Given the description of an element on the screen output the (x, y) to click on. 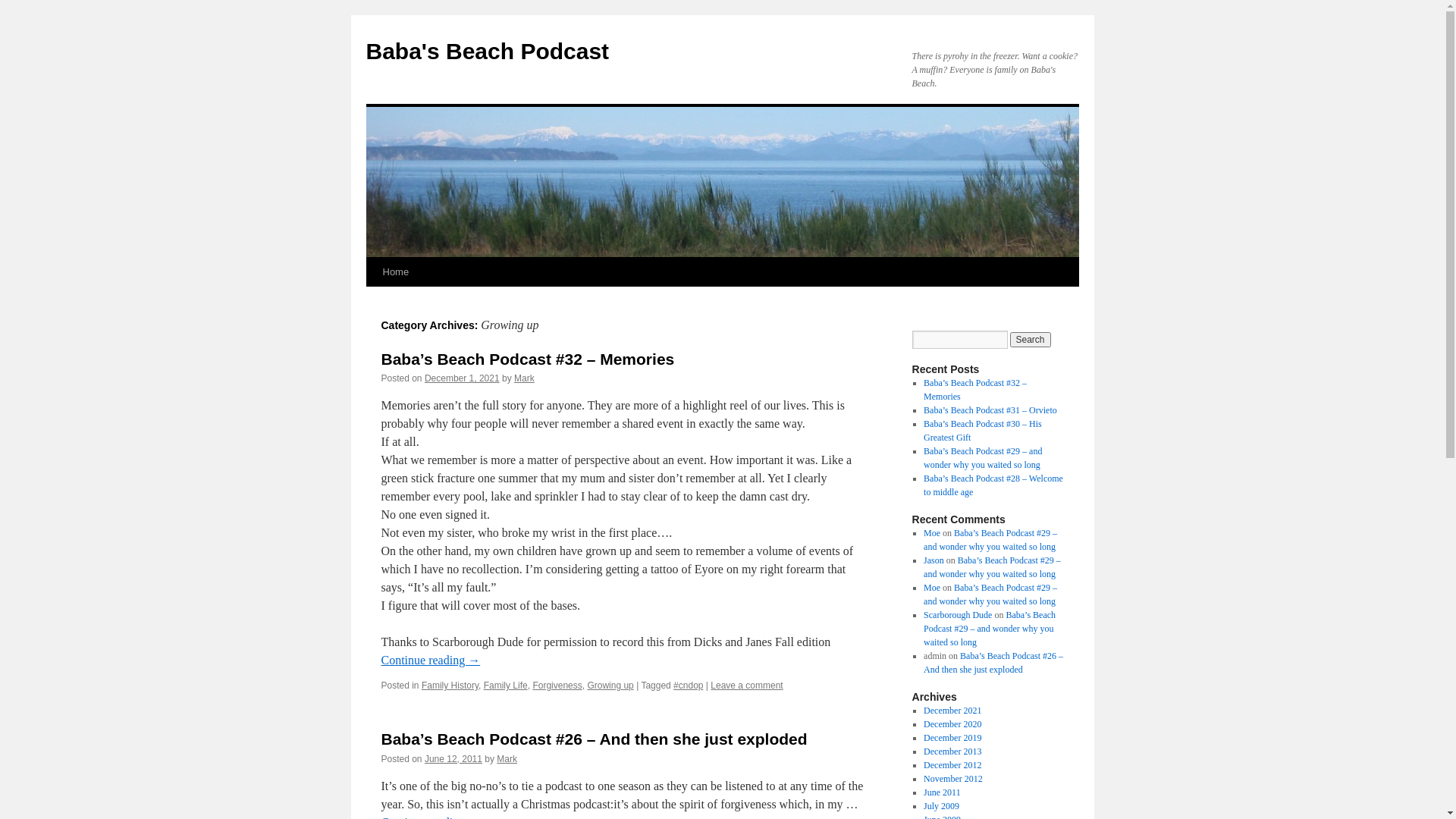
July 2009 Element type: text (941, 805)
December 2012 Element type: text (952, 764)
December 2021 Element type: text (952, 710)
#cndop Element type: text (687, 685)
December 2019 Element type: text (952, 737)
Search Element type: text (1030, 339)
Family History Element type: text (449, 685)
Jason Element type: text (933, 560)
Skip to content Element type: text (372, 300)
December 1, 2021 Element type: text (461, 378)
November 2012 Element type: text (952, 778)
Moe Element type: text (931, 532)
December 2020 Element type: text (952, 723)
Scarborough Dude Element type: text (957, 614)
June 12, 2011 Element type: text (453, 758)
Leave a comment Element type: text (746, 685)
Family Life Element type: text (505, 685)
Mark Element type: text (506, 758)
Mark Element type: text (524, 378)
June 2011 Element type: text (941, 792)
Moe Element type: text (931, 587)
Home Element type: text (395, 271)
Baba's Beach Podcast Element type: text (486, 50)
December 2013 Element type: text (952, 751)
Growing up Element type: text (609, 685)
Forgiveness Element type: text (556, 685)
